Given the description of an element on the screen output the (x, y) to click on. 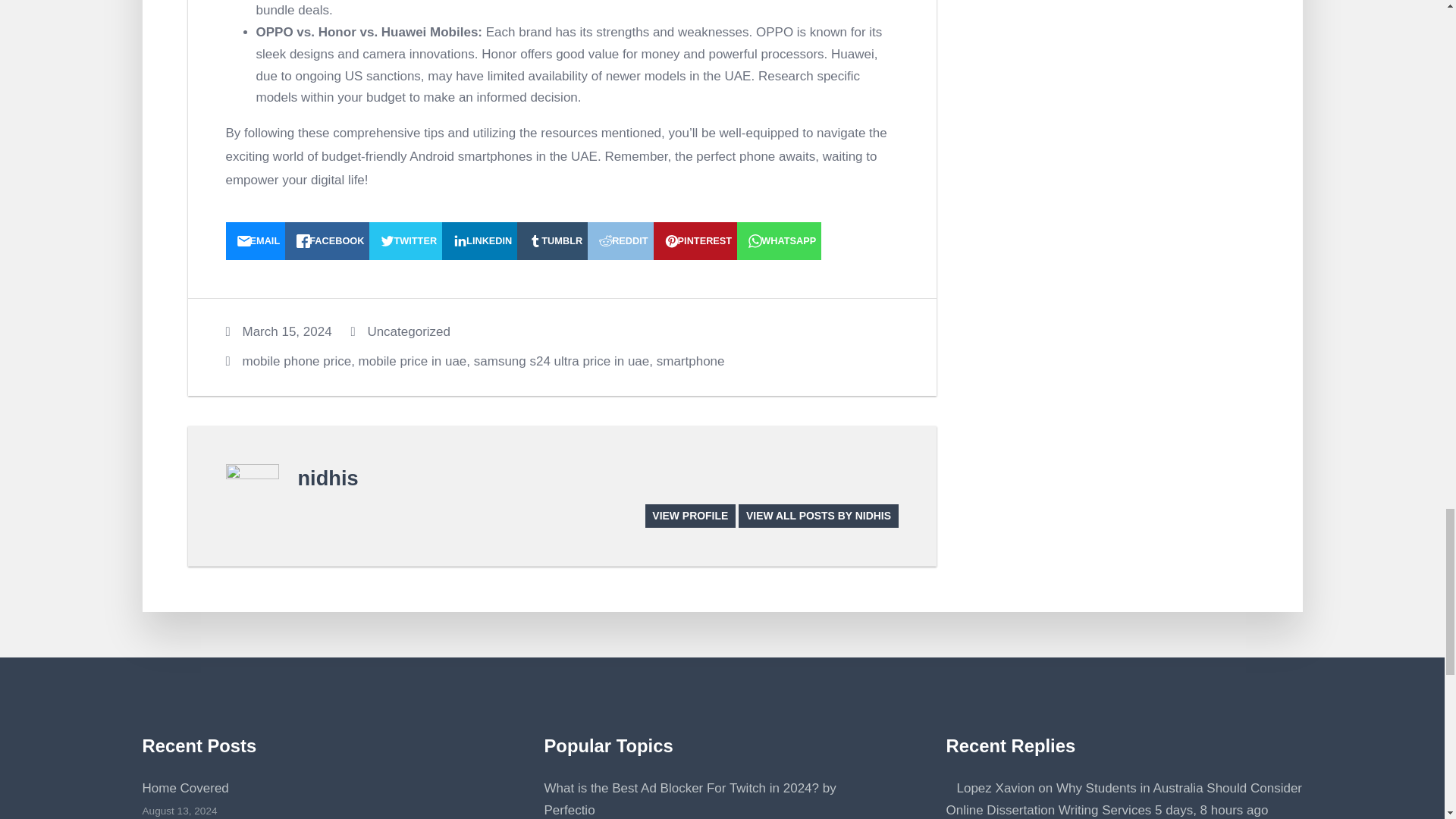
Uncategorized (407, 331)
TWITTER (405, 240)
EMAIL (255, 240)
smartphone (690, 360)
REDDIT (620, 240)
samsung s24 ultra price in uae (561, 360)
FACEBOOK (327, 240)
TUMBLR (552, 240)
mobile price in uae (412, 360)
mobile phone price (297, 360)
